Given the description of an element on the screen output the (x, y) to click on. 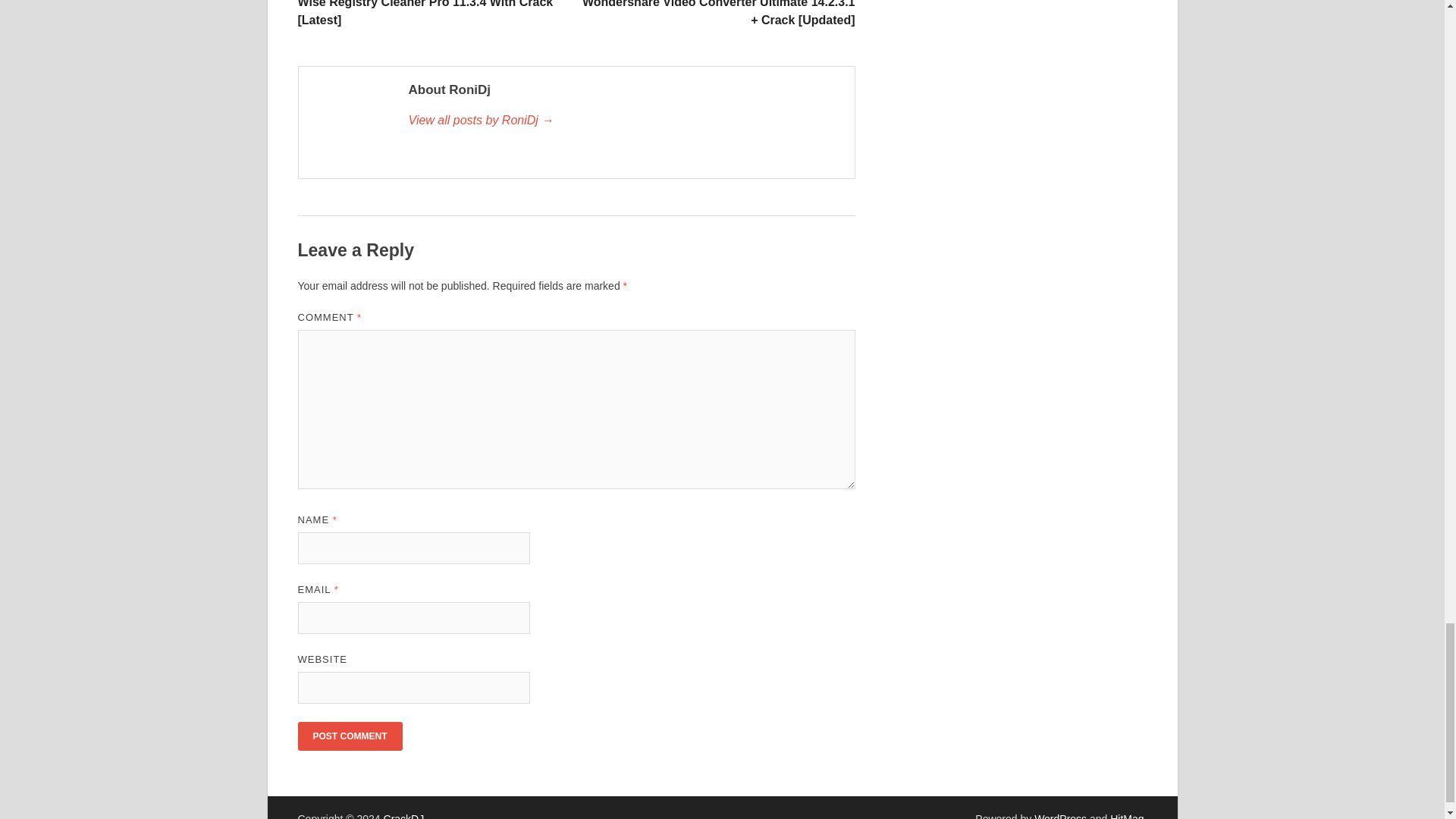
RoniDj (622, 120)
Post Comment (349, 736)
